Given the description of an element on the screen output the (x, y) to click on. 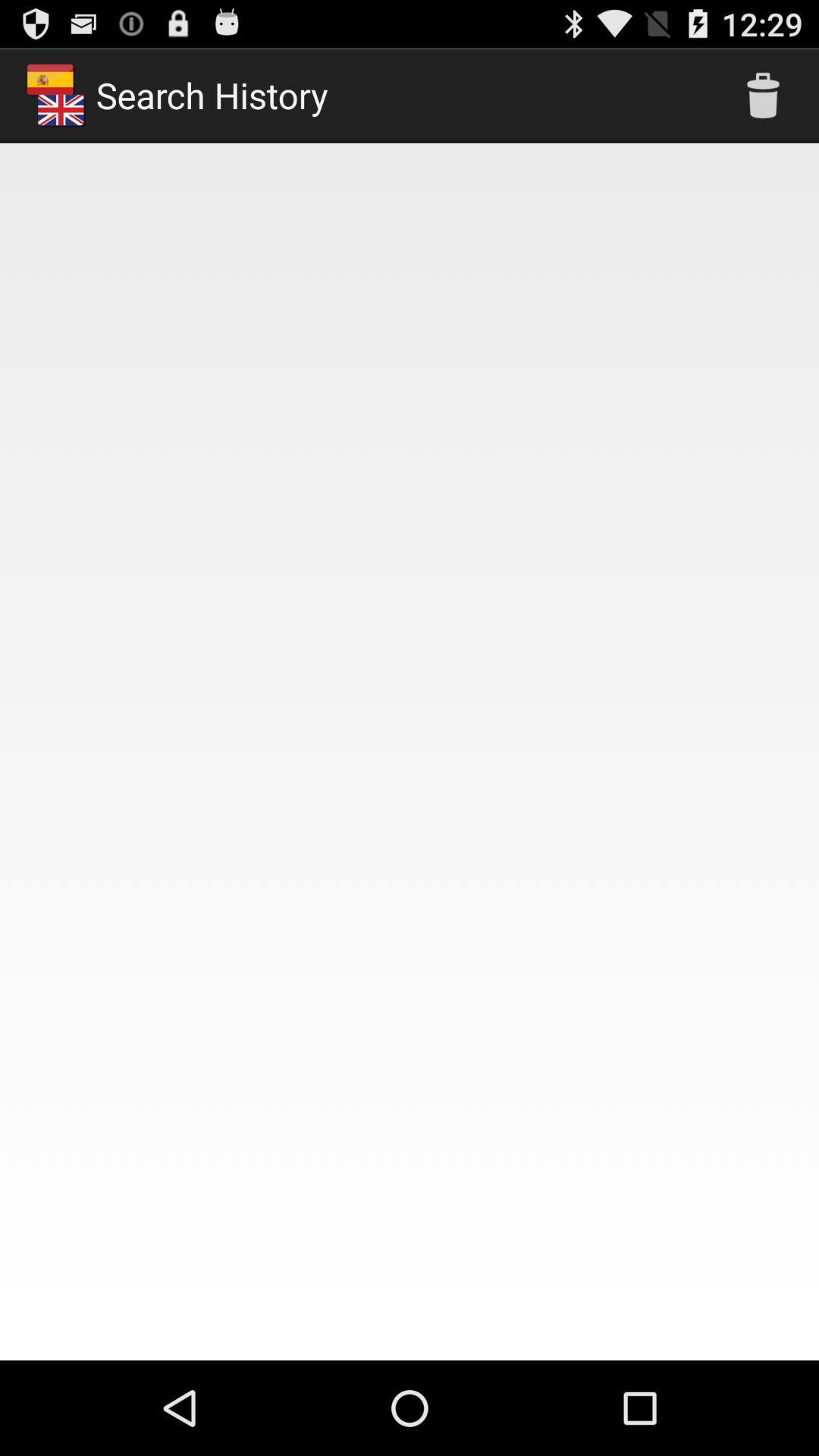
open app next to search history (763, 95)
